Given the description of an element on the screen output the (x, y) to click on. 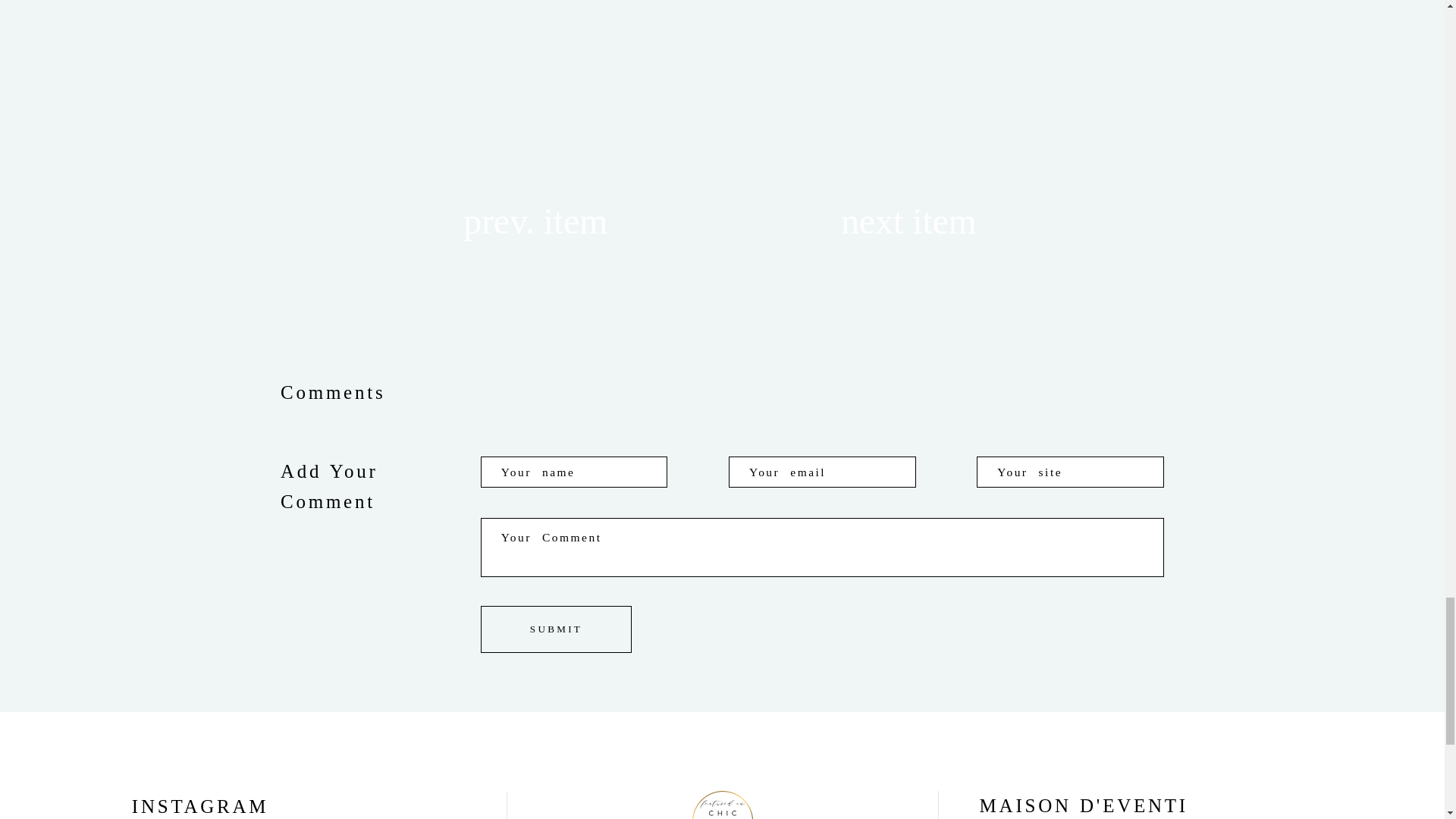
SUBMIT (555, 629)
